Given the description of an element on the screen output the (x, y) to click on. 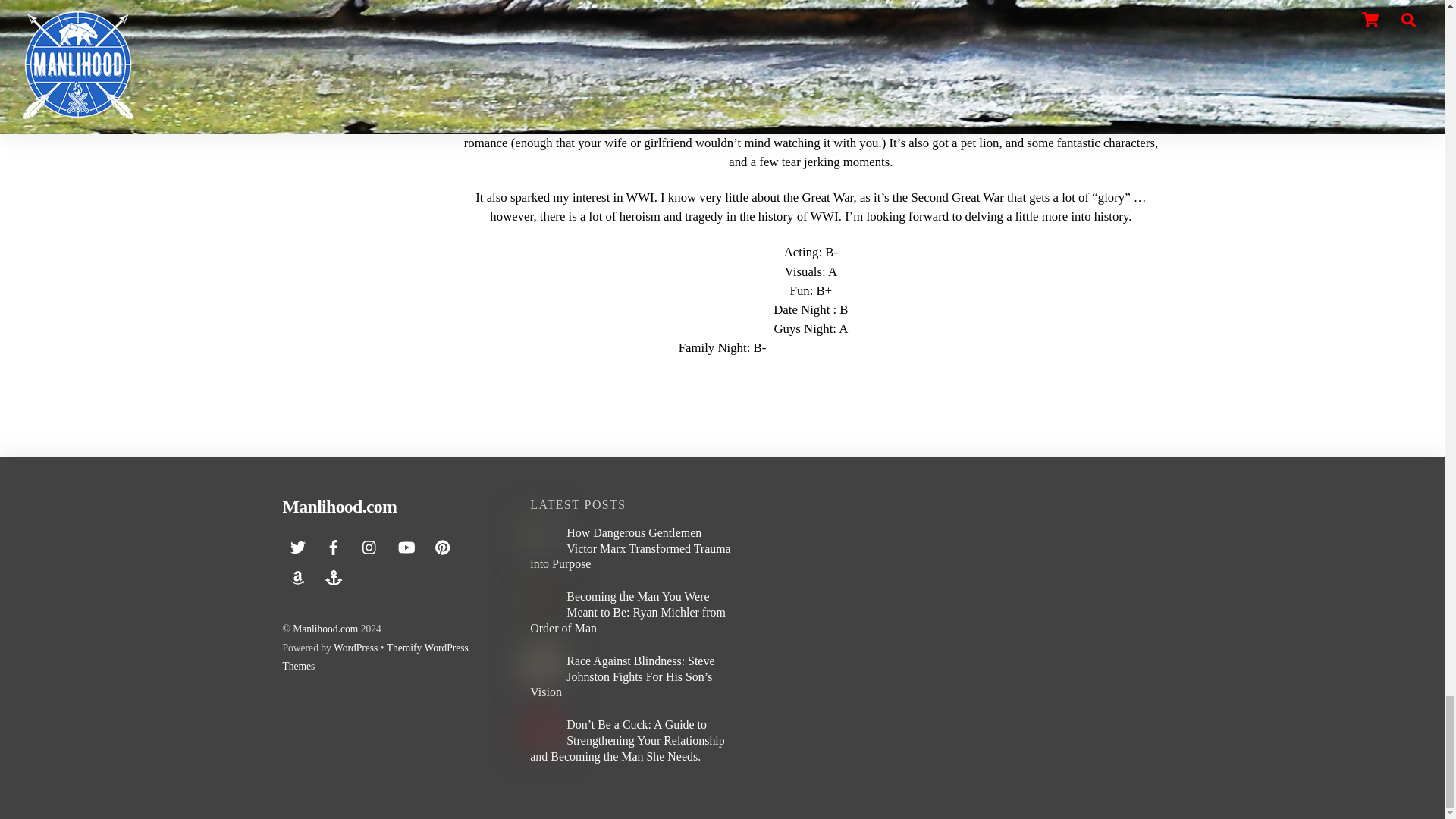
Victor Marx Thumb (541, 537)
Steve Johnston Thumb (541, 665)
Manlihood.com (339, 506)
Ryan Michler Thumb (541, 600)
